Given the description of an element on the screen output the (x, y) to click on. 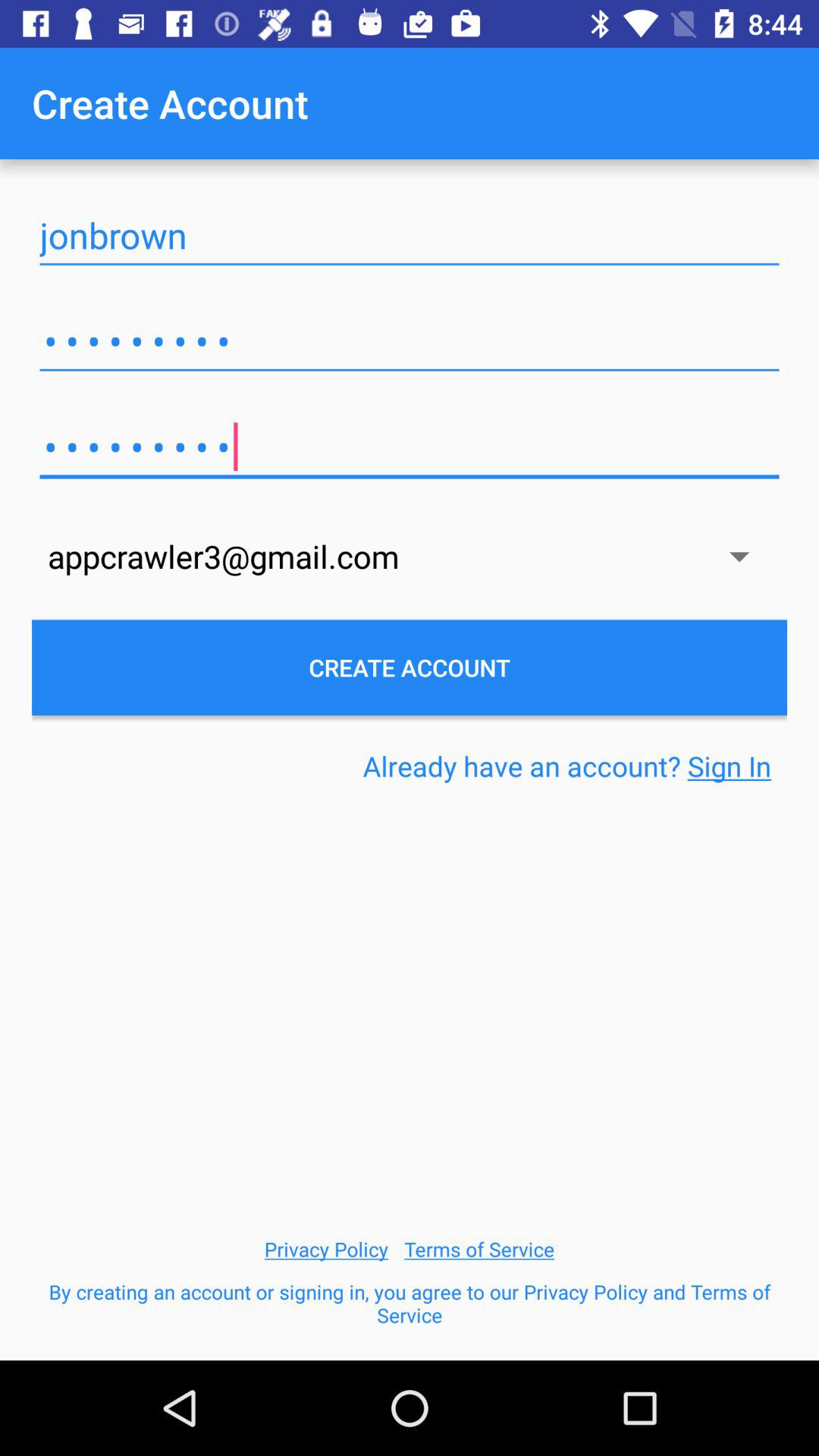
turn on item above the crowd3116 item (409, 235)
